Given the description of an element on the screen output the (x, y) to click on. 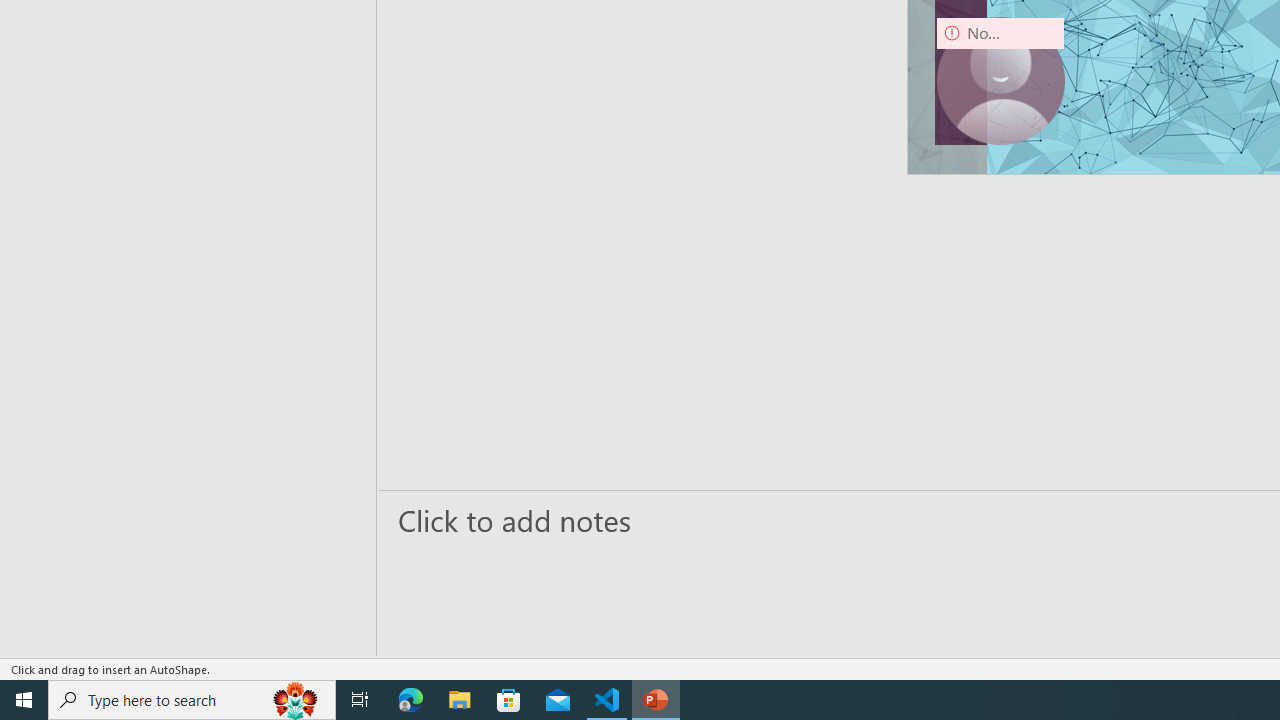
Camera 9, No camera detected. (1000, 80)
